Given the description of an element on the screen output the (x, y) to click on. 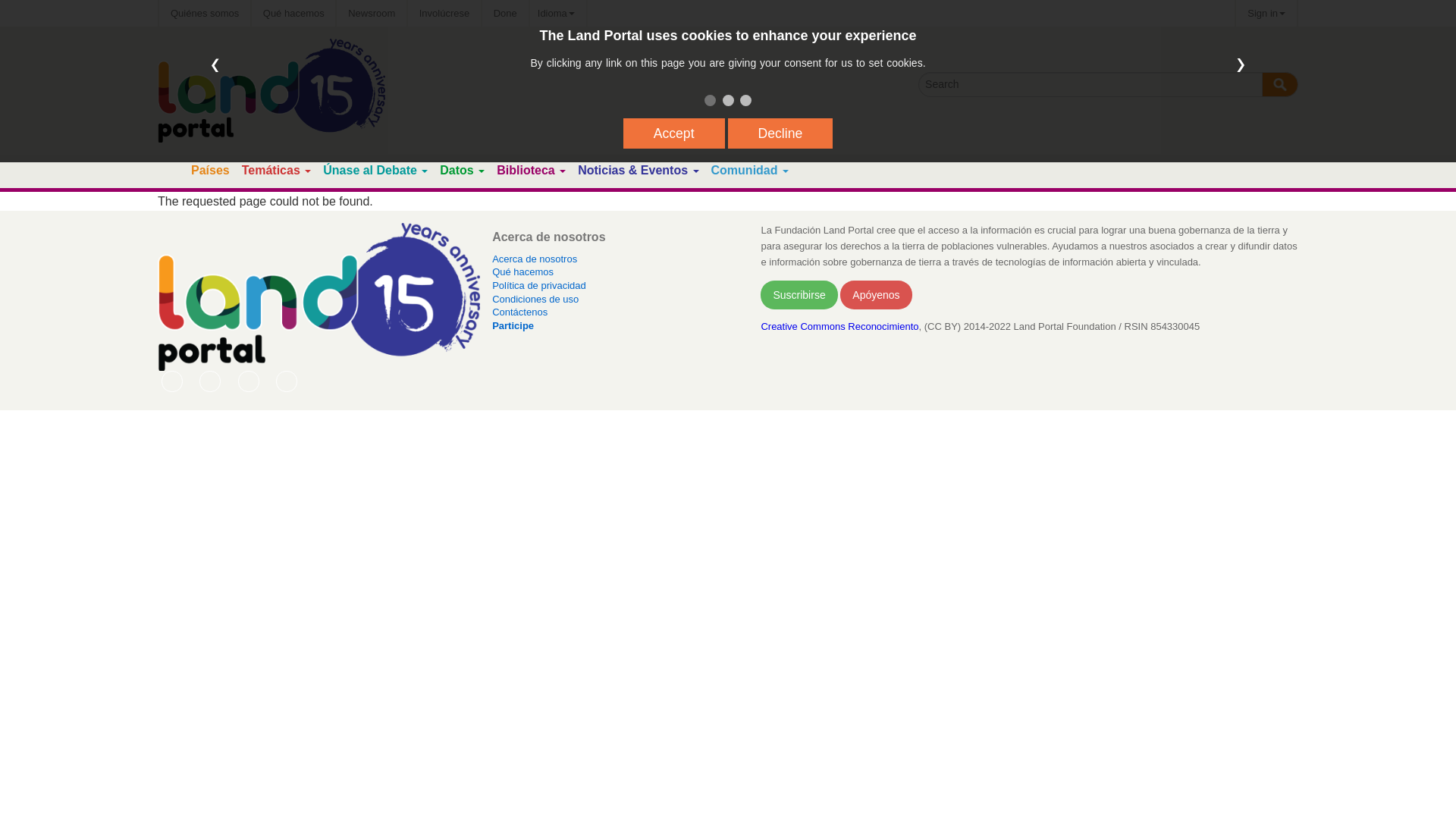
Participe (443, 13)
Newsroom (371, 13)
Donaciones (504, 13)
Search (1280, 84)
Home (171, 171)
Accept (674, 133)
Search (1280, 84)
Lo que hacemos (293, 13)
Decline (780, 133)
Sign in (1266, 13)
Done (504, 13)
